Given the description of an element on the screen output the (x, y) to click on. 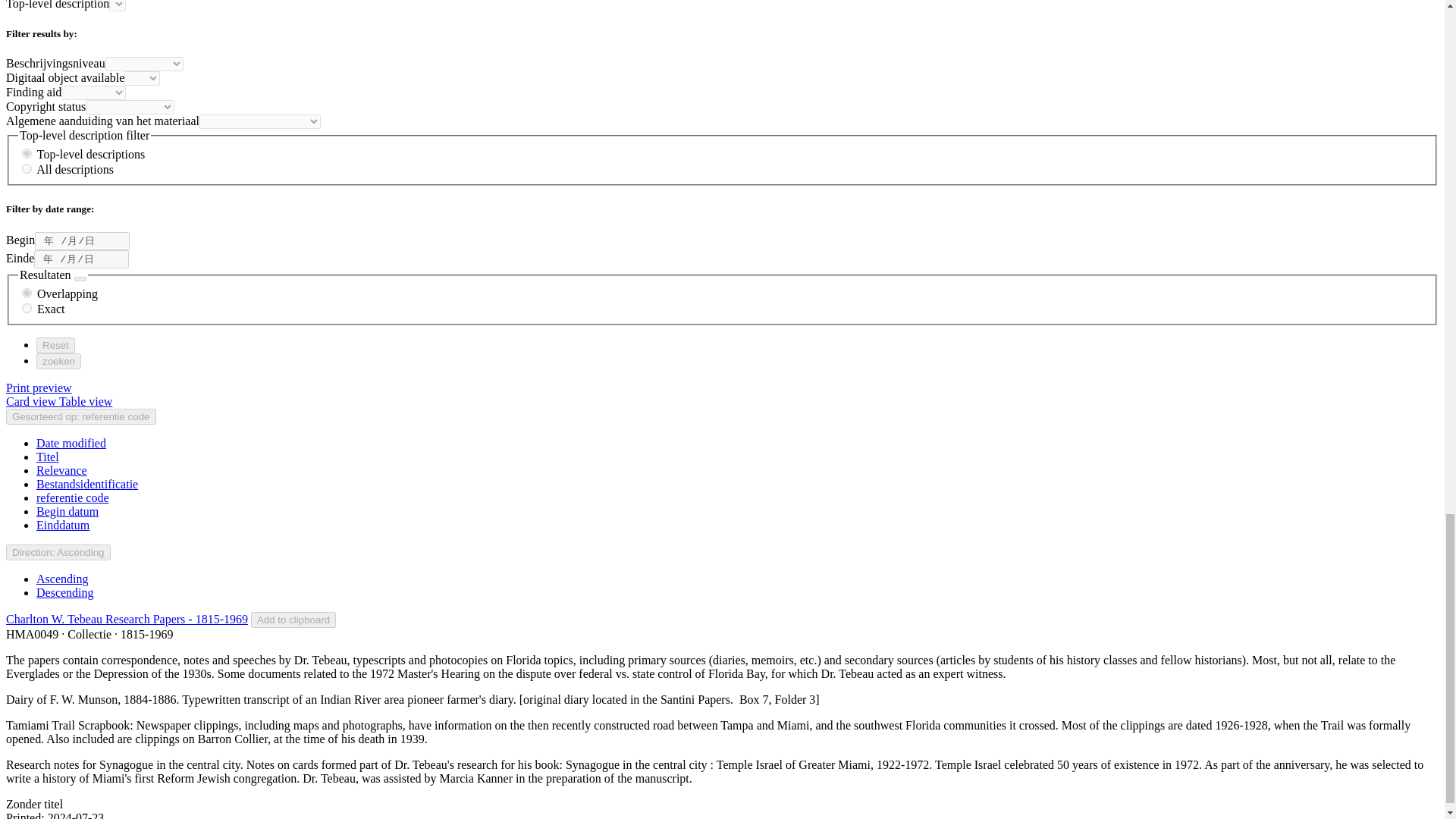
inclusive (26, 293)
exact (26, 307)
Reset (55, 344)
zoeken (58, 360)
0 (26, 168)
1 (26, 153)
